Given the description of an element on the screen output the (x, y) to click on. 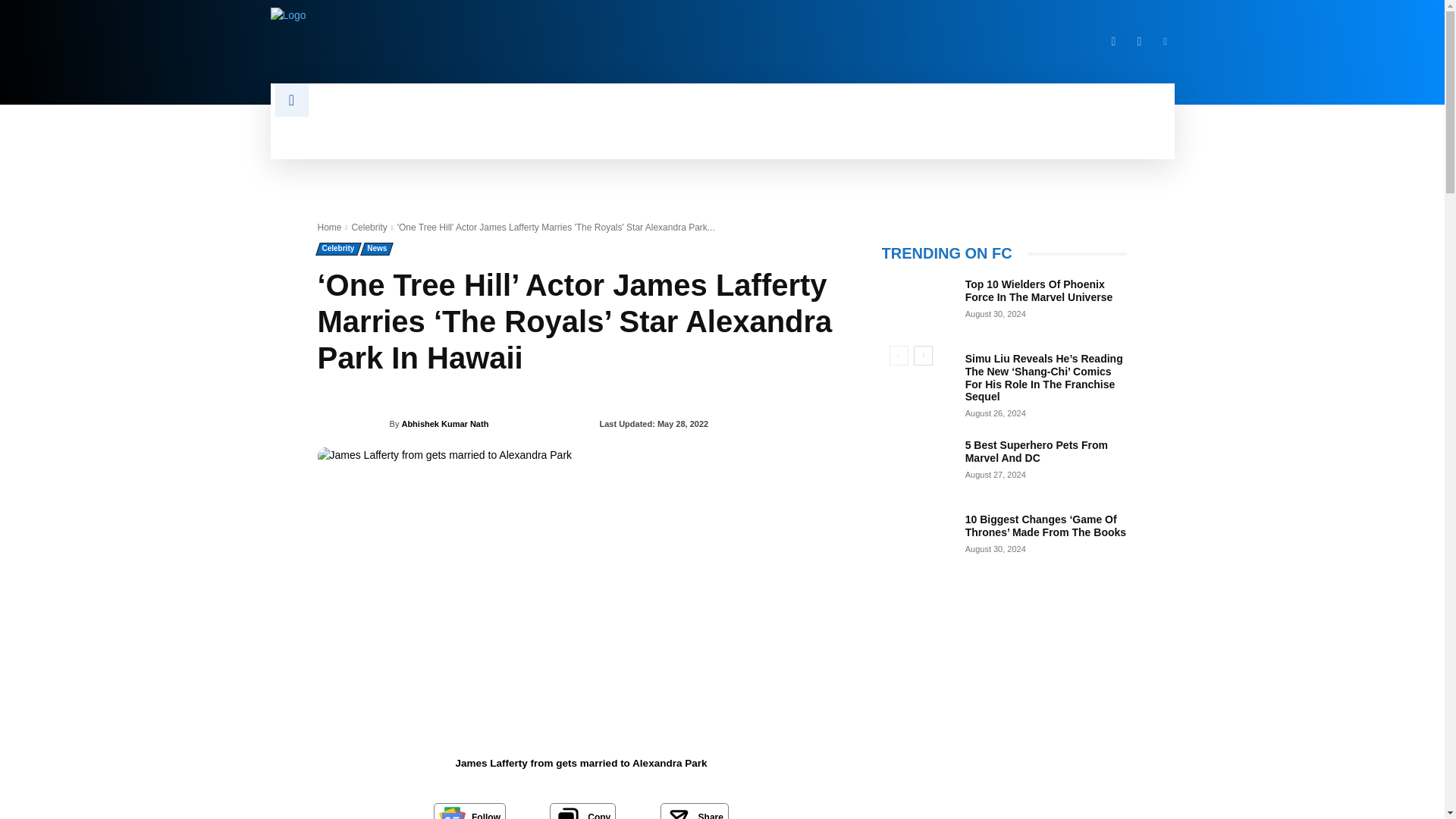
Home (328, 226)
View all posts in Celebrity (368, 226)
Facebook (1112, 41)
Linkedin (1164, 41)
Celebrity (368, 226)
Twitter (1138, 41)
